Given the description of an element on the screen output the (x, y) to click on. 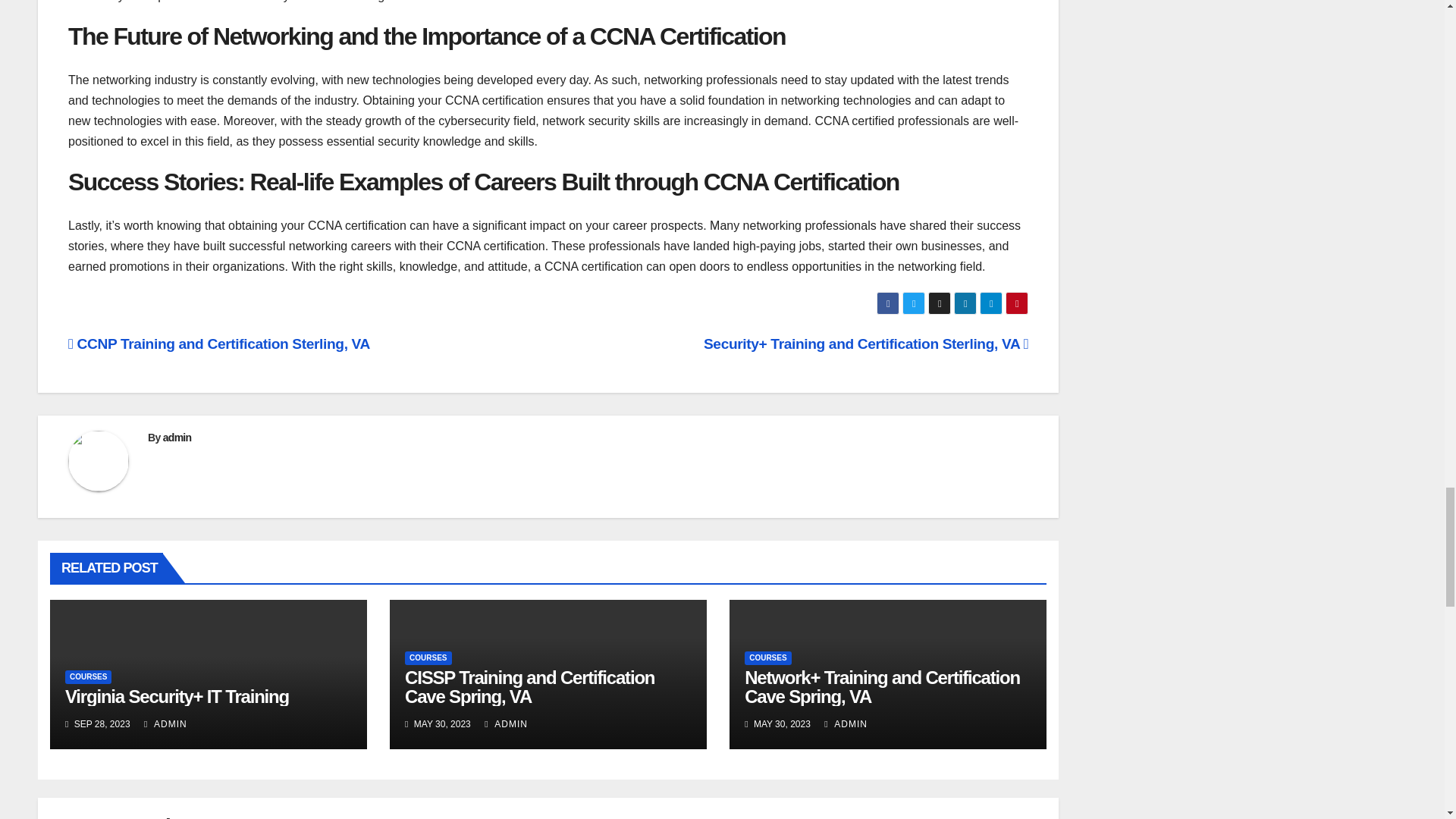
COURSES (767, 658)
ADMIN (845, 724)
ADMIN (505, 724)
COURSES (88, 676)
CCNP Training and Certification Sterling, VA (218, 343)
CISSP Training and Certification Cave Spring, VA (528, 686)
admin (177, 437)
COURSES (427, 658)
ADMIN (165, 724)
